Given the description of an element on the screen output the (x, y) to click on. 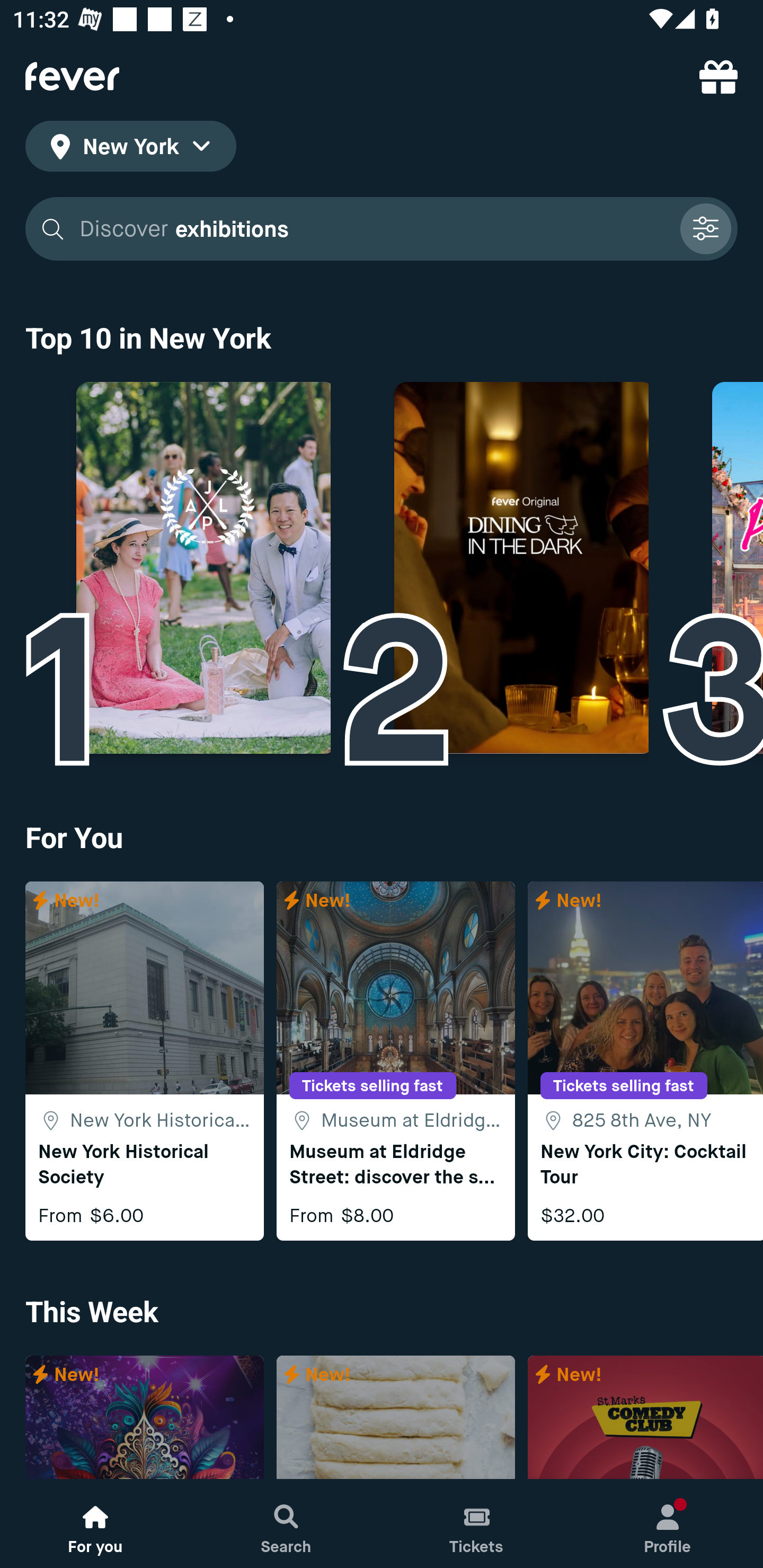
referral (718, 75)
location icon New York location icon (130, 149)
Discover exhibitions (381, 228)
Discover exhibitions (373, 228)
Search (285, 1523)
Tickets (476, 1523)
Profile, New notification Profile (667, 1523)
